Given the description of an element on the screen output the (x, y) to click on. 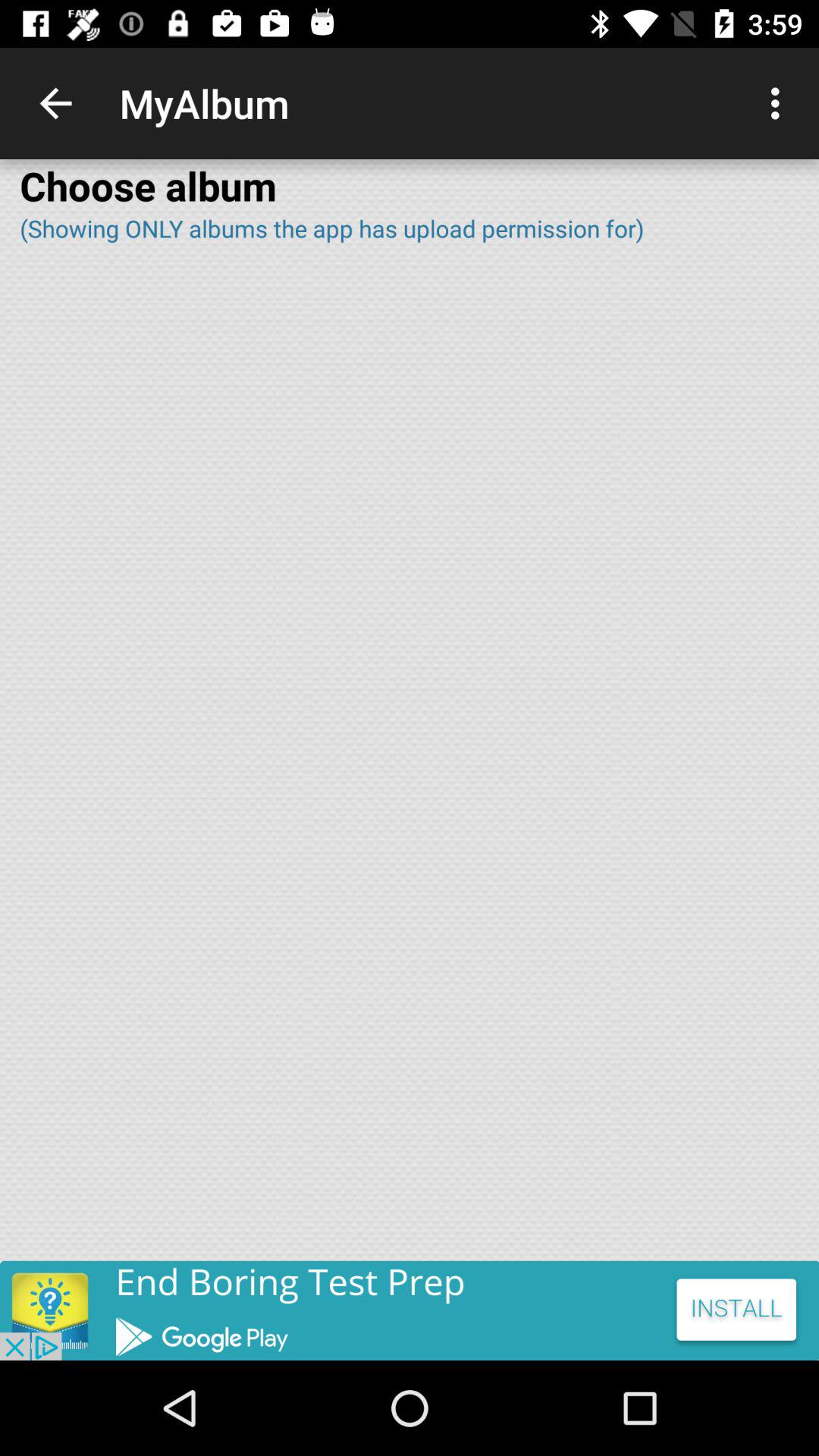
select the add image (409, 1310)
